Given the description of an element on the screen output the (x, y) to click on. 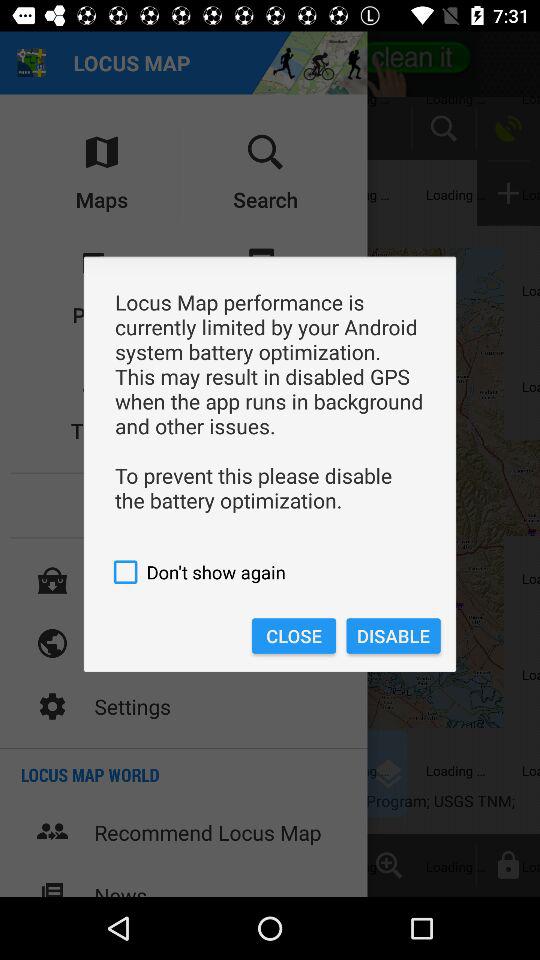
choose item next to the disable icon (293, 635)
